Given the description of an element on the screen output the (x, y) to click on. 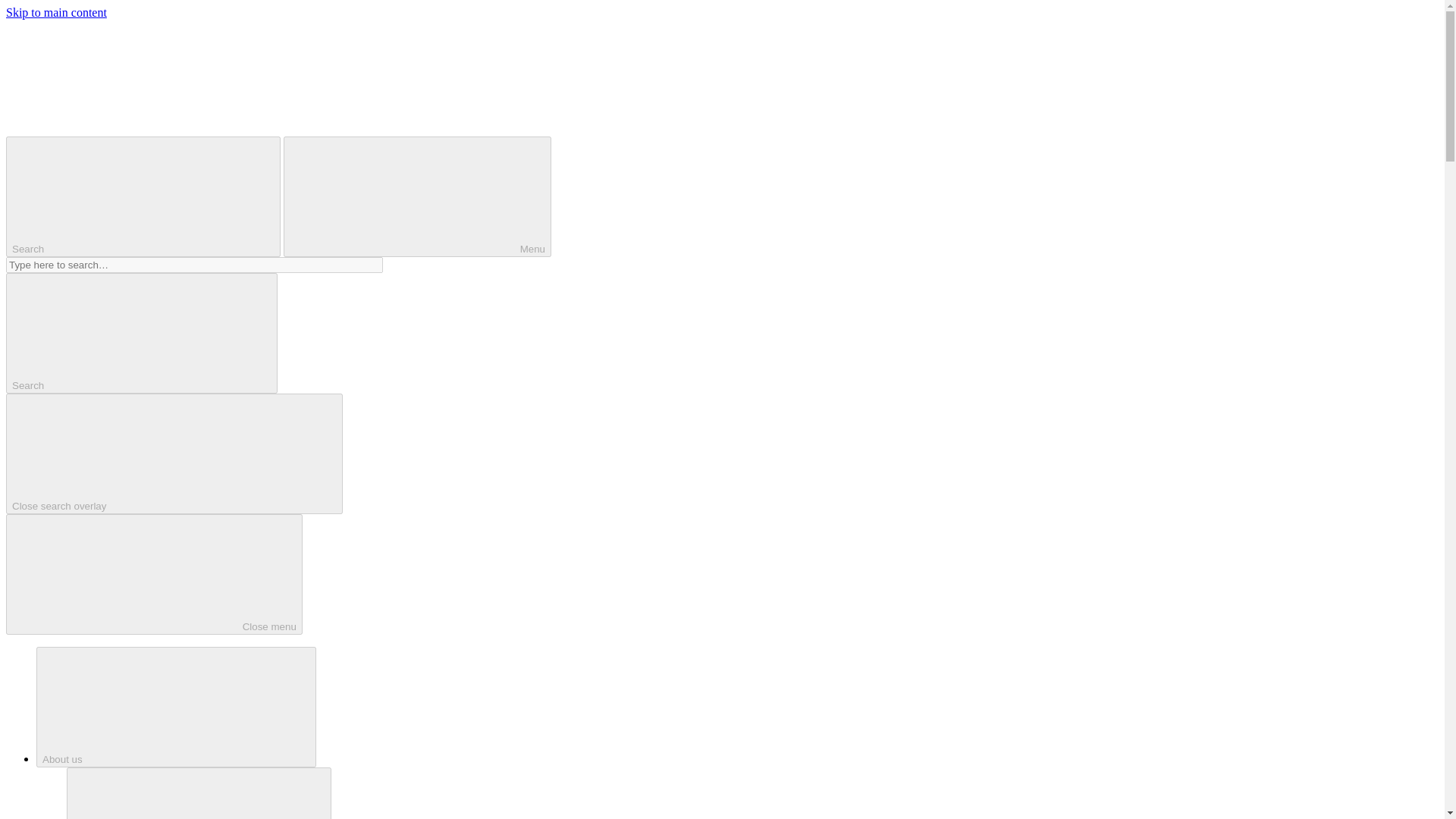
Skip to main content (55, 11)
Close search overlay (173, 453)
Back (198, 793)
Search (143, 196)
Menu (417, 196)
Return to the homepage (118, 128)
About us (175, 707)
Search (141, 332)
Close menu (153, 574)
